Given the description of an element on the screen output the (x, y) to click on. 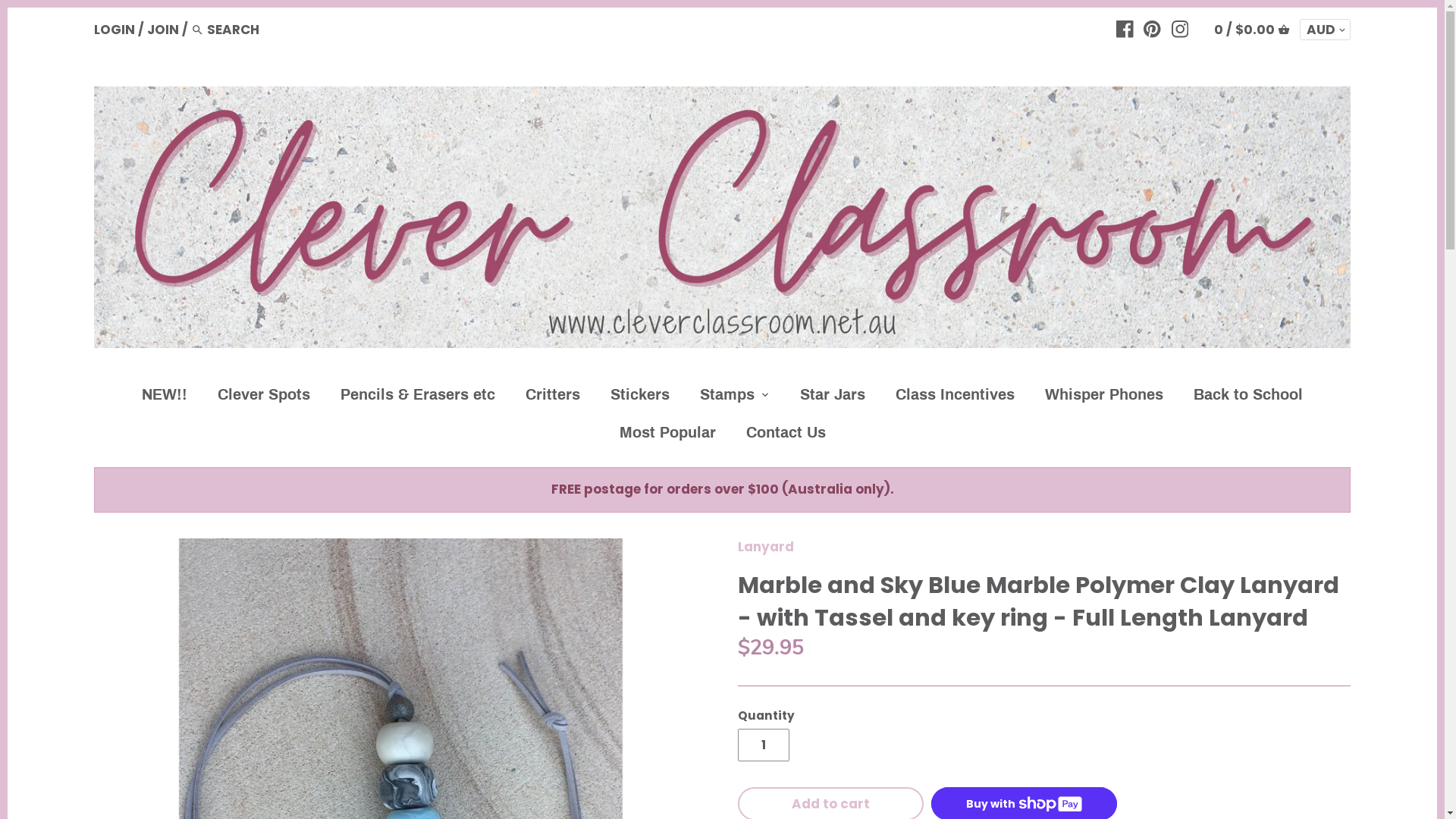
Critters Element type: text (552, 397)
Class Incentives Element type: text (954, 397)
Back to School Element type: text (1247, 397)
INSTAGRAM Element type: text (1180, 27)
0 / $0.00 CART Element type: text (1251, 28)
Lanyard Element type: text (765, 546)
Stickers Element type: text (639, 397)
FACEBOOK Element type: text (1124, 27)
NEW!! Element type: text (164, 397)
Stamps Element type: text (726, 397)
Pencils & Erasers etc Element type: text (417, 397)
Clever Spots Element type: text (263, 397)
Contact Us Element type: text (785, 435)
Whisper Phones Element type: text (1103, 397)
PINTEREST Element type: text (1152, 27)
JOIN Element type: text (162, 28)
LOGIN Element type: text (114, 28)
Star Jars Element type: text (832, 397)
Search Element type: text (197, 30)
Most Popular Element type: text (666, 435)
